Given the description of an element on the screen output the (x, y) to click on. 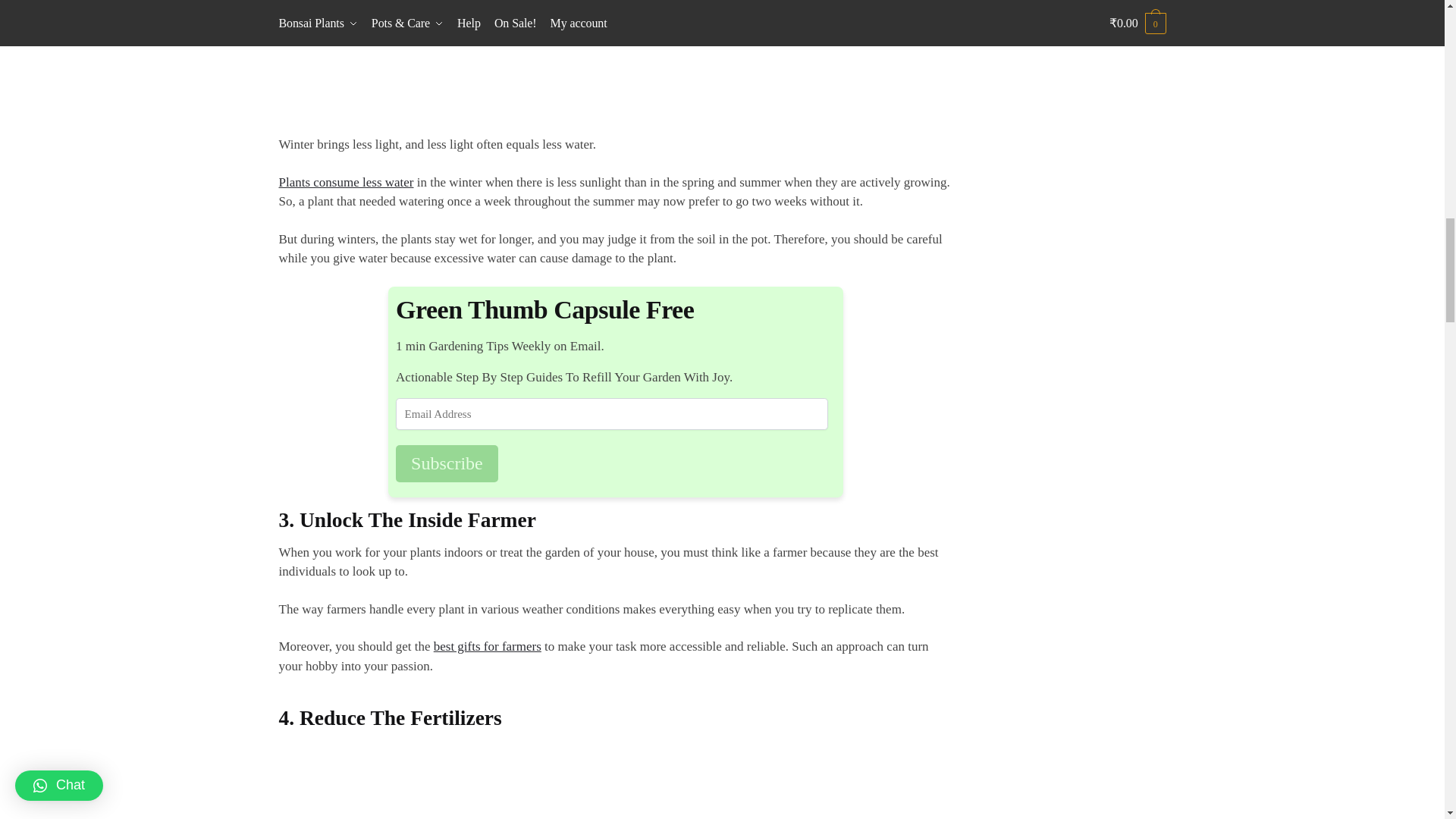
best gifts for farmers (487, 646)
Subscribe (446, 463)
Plants consume less water (346, 182)
